Given the description of an element on the screen output the (x, y) to click on. 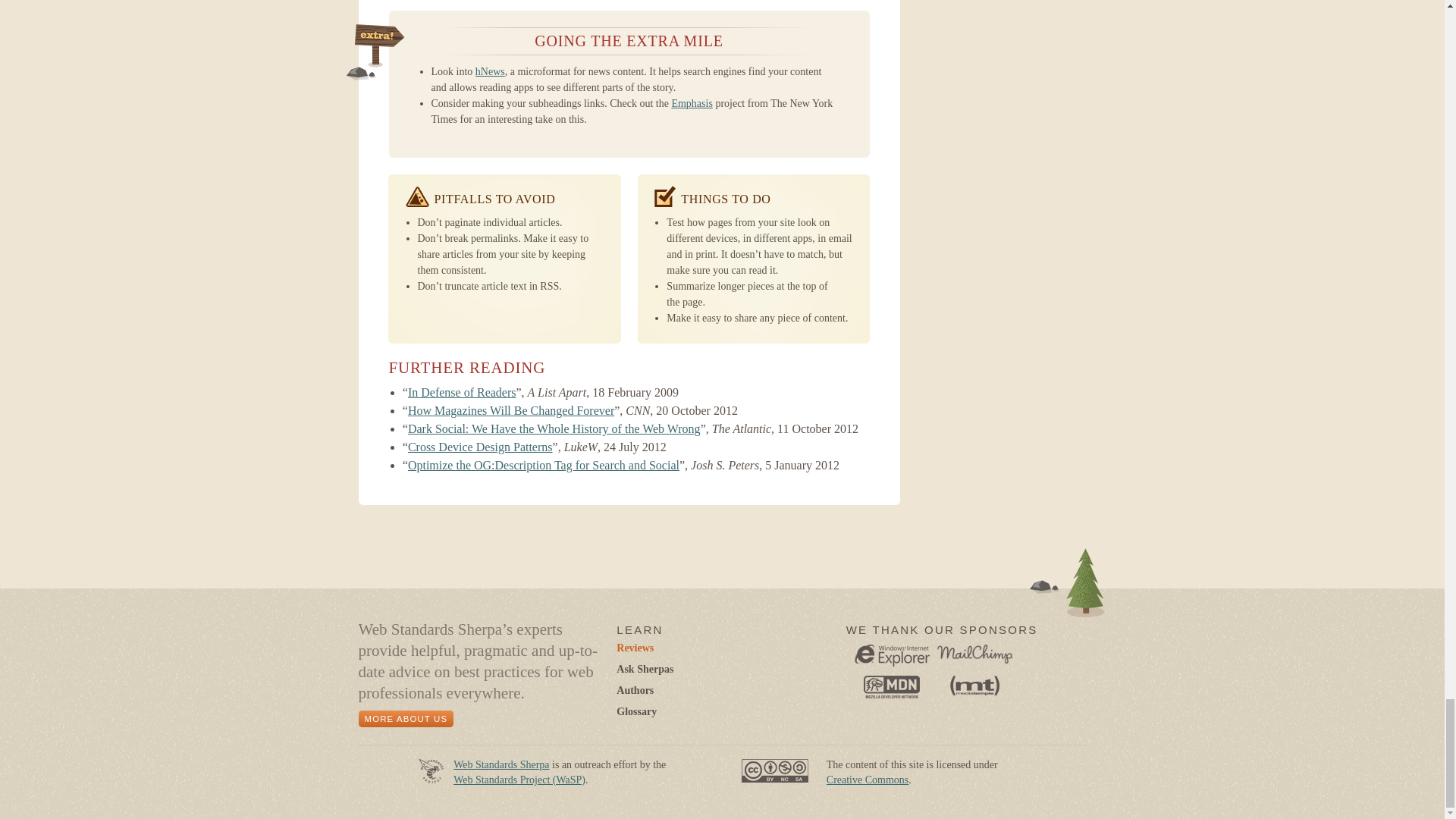
Emphasis (691, 102)
hNews (490, 71)
How Magazines Will Be Changed Forever (510, 410)
Dark Social: We Have the Whole History of the Web Wrong (553, 428)
In Defense of Readers (461, 391)
